Given the description of an element on the screen output the (x, y) to click on. 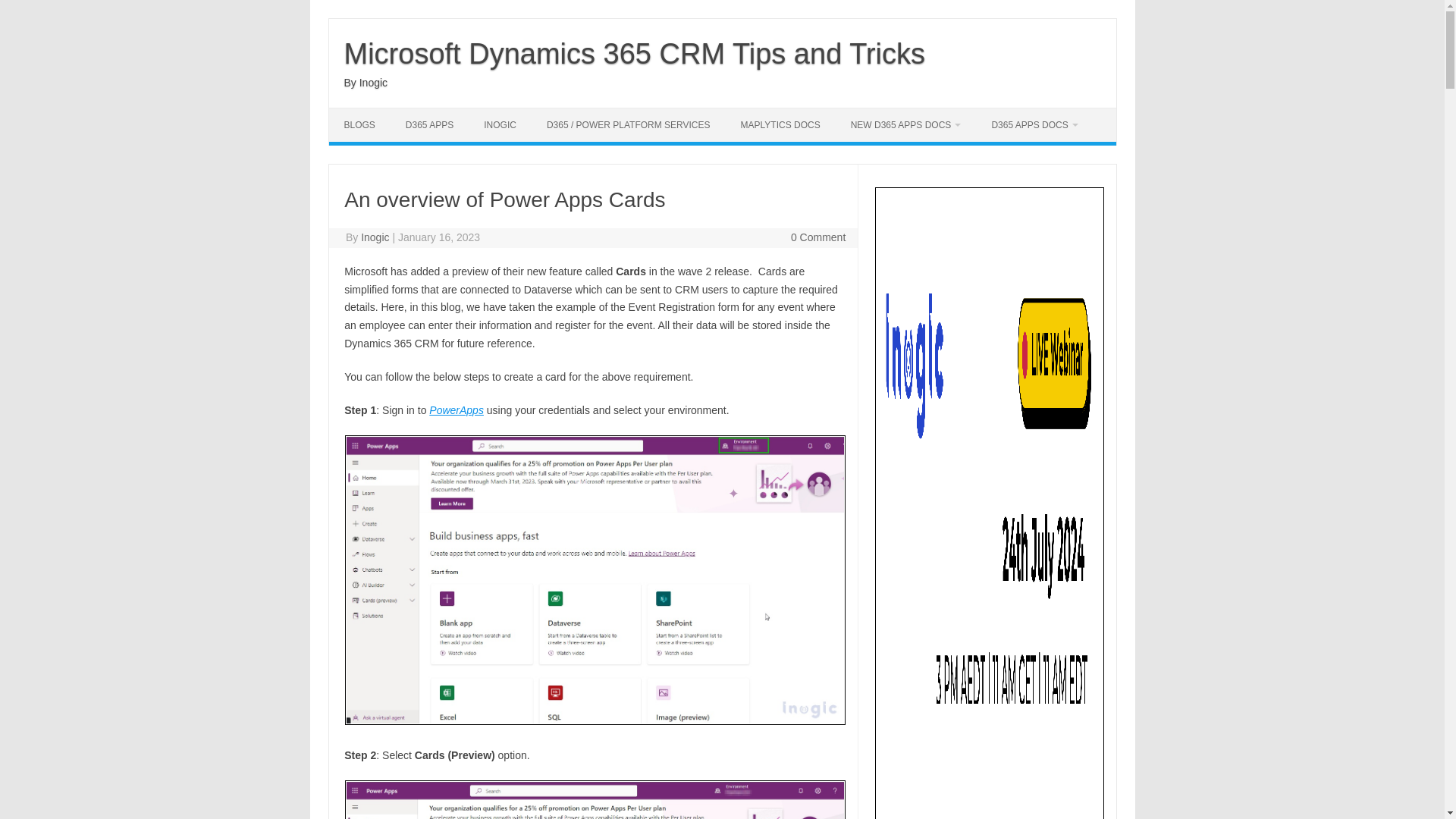
INOGIC (499, 124)
D365 APPS (429, 124)
BLOGS (359, 124)
Inogic (374, 236)
MAPLYTICS DOCS (780, 124)
By Inogic (365, 82)
NEW D365 APPS DOCS (905, 124)
PowerApps (456, 410)
0 Comment (817, 236)
D365 APPS DOCS (1034, 124)
Microsoft Dynamics 365 CRM Tips and Tricks (634, 53)
Microsoft Dynamics 365 CRM Tips and Tricks (634, 53)
Posts by Inogic (374, 236)
